Given the description of an element on the screen output the (x, y) to click on. 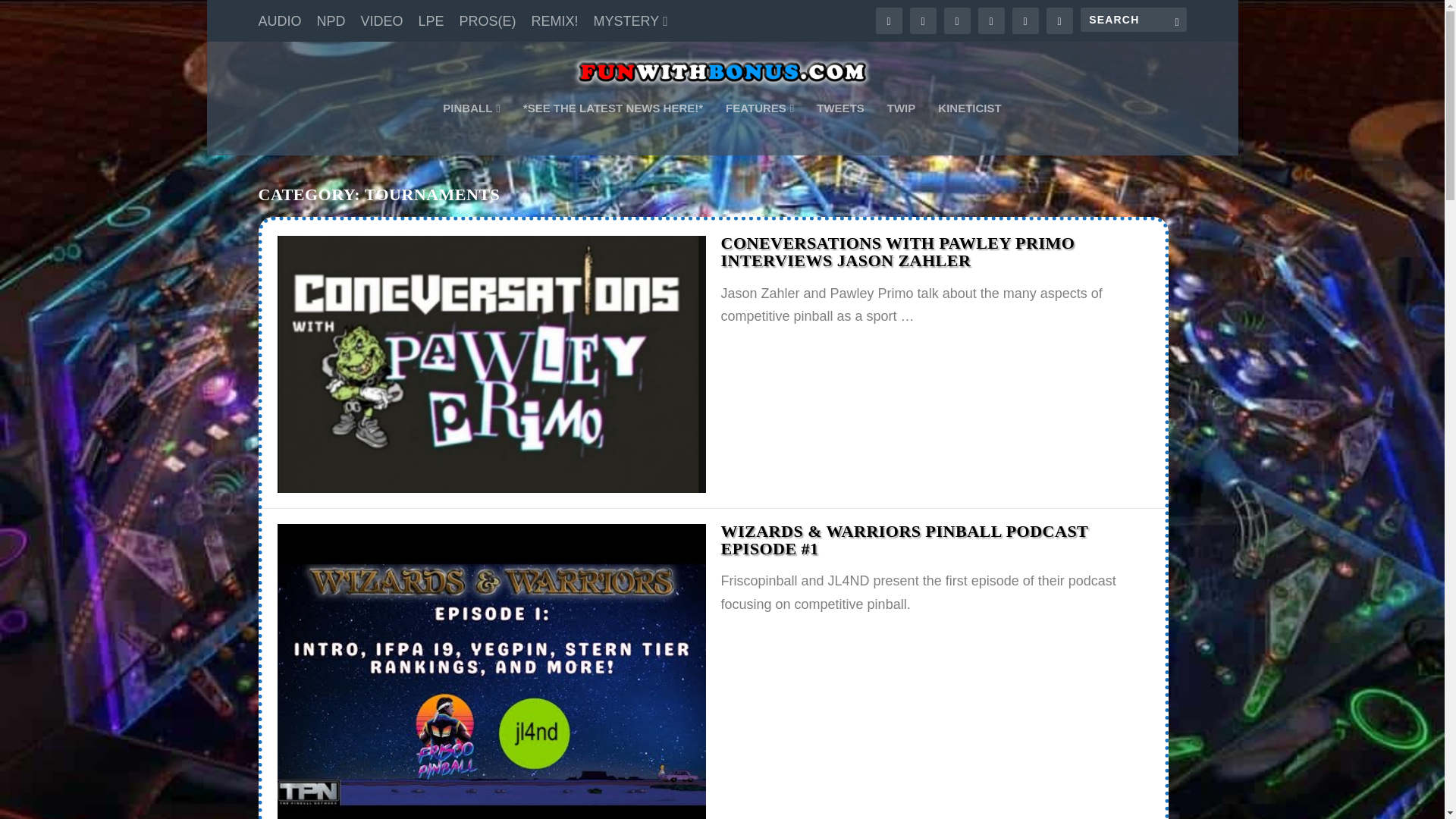
Fun With Bonus on Facebook (612, 128)
Play a real game. Play pinball! (470, 128)
PINBALL (470, 128)
REMIX! (554, 20)
VIDEO (382, 20)
AUDIO (279, 20)
MYSTERY (631, 20)
